Given the description of an element on the screen output the (x, y) to click on. 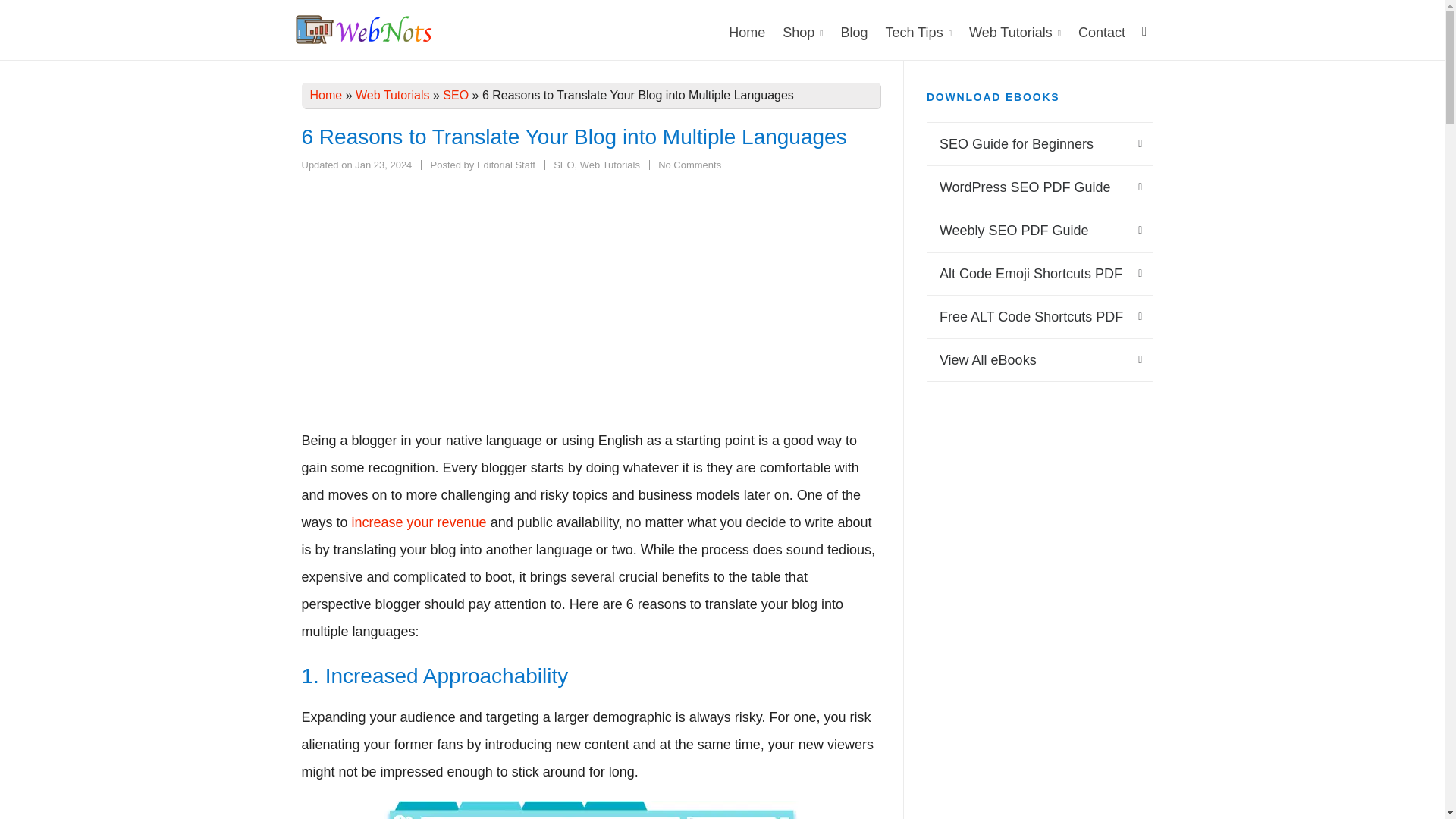
No Comments (689, 164)
Web Tutorials (1014, 30)
Tech Tips (506, 164)
Shop (918, 30)
Advertisement (802, 30)
